Given the description of an element on the screen output the (x, y) to click on. 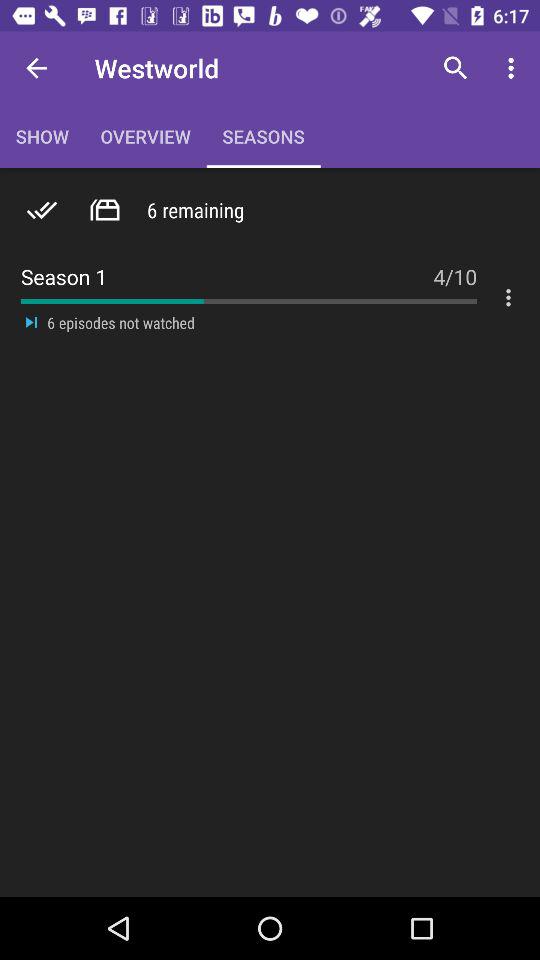
turn off the item next to the 6 episodes not (31, 322)
